Given the description of an element on the screen output the (x, y) to click on. 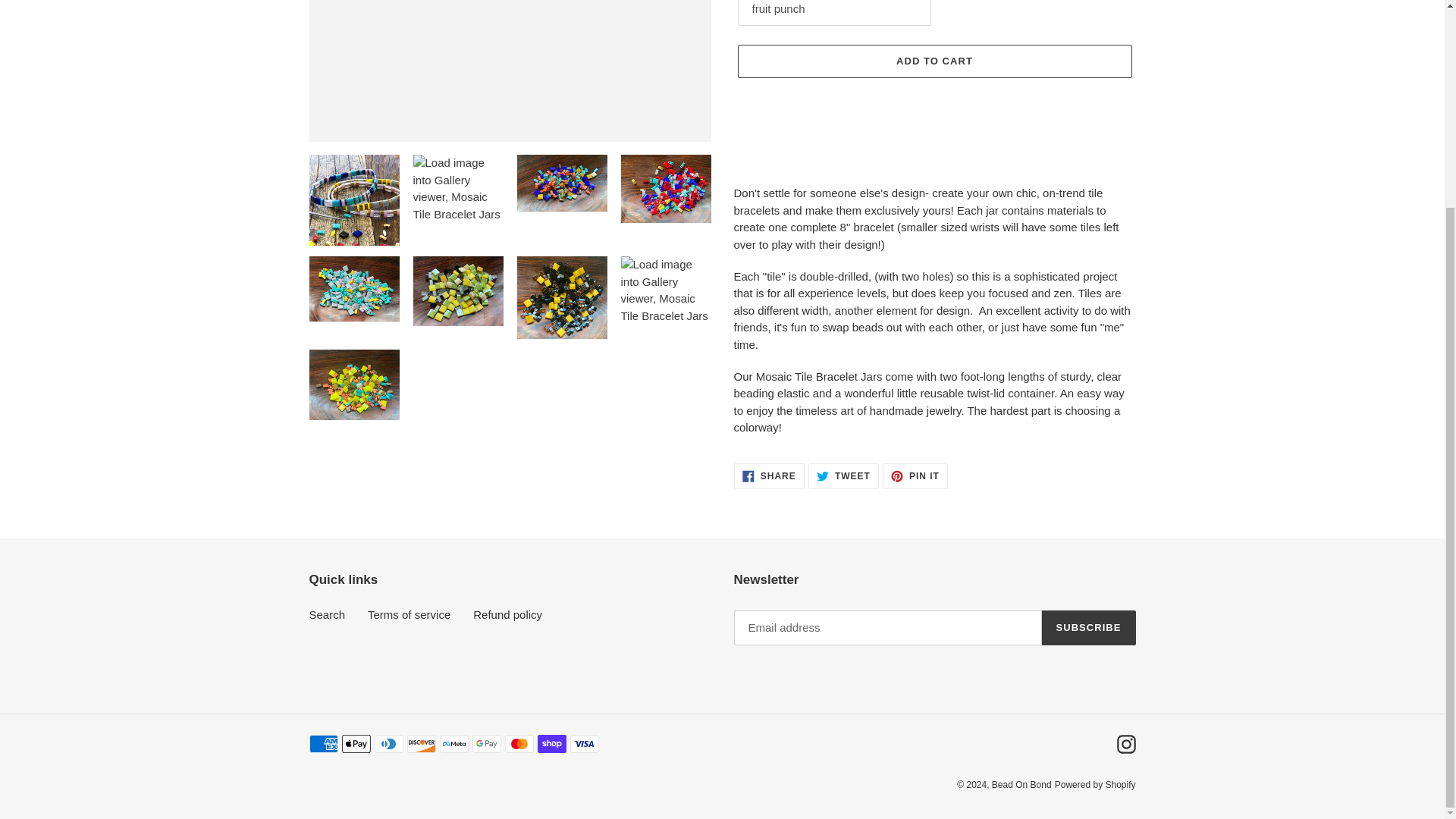
Powered by Shopify (914, 475)
Bead On Bond (1094, 784)
Terms of service (1021, 784)
Instagram (408, 614)
Refund policy (1125, 743)
Search (843, 475)
SUBSCRIBE (507, 614)
ADD TO CART (327, 614)
